Given the description of an element on the screen output the (x, y) to click on. 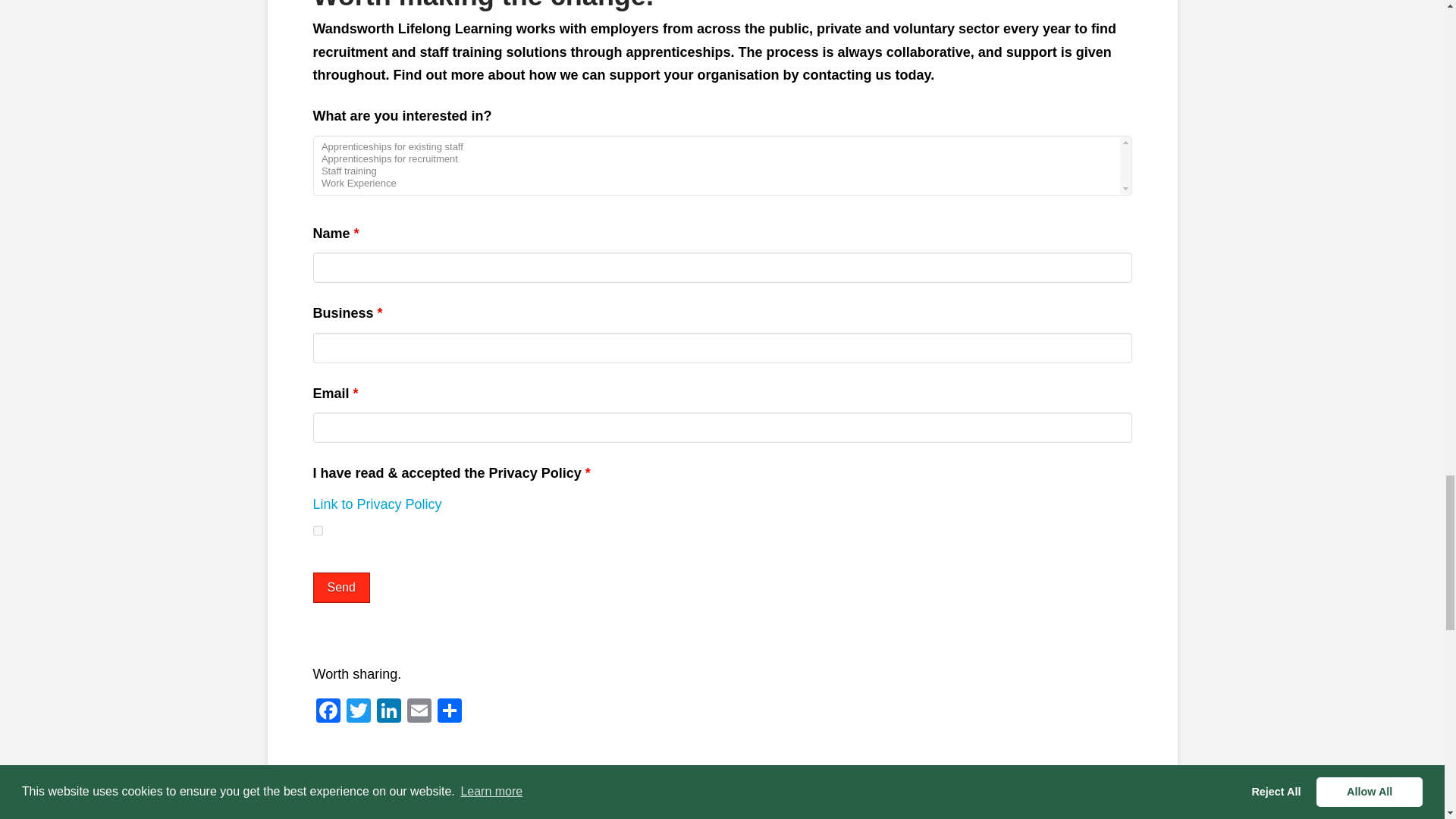
Twitter (357, 712)
Facebook (327, 712)
Send (341, 587)
LinkedIn (387, 712)
Email (418, 712)
